Given the description of an element on the screen output the (x, y) to click on. 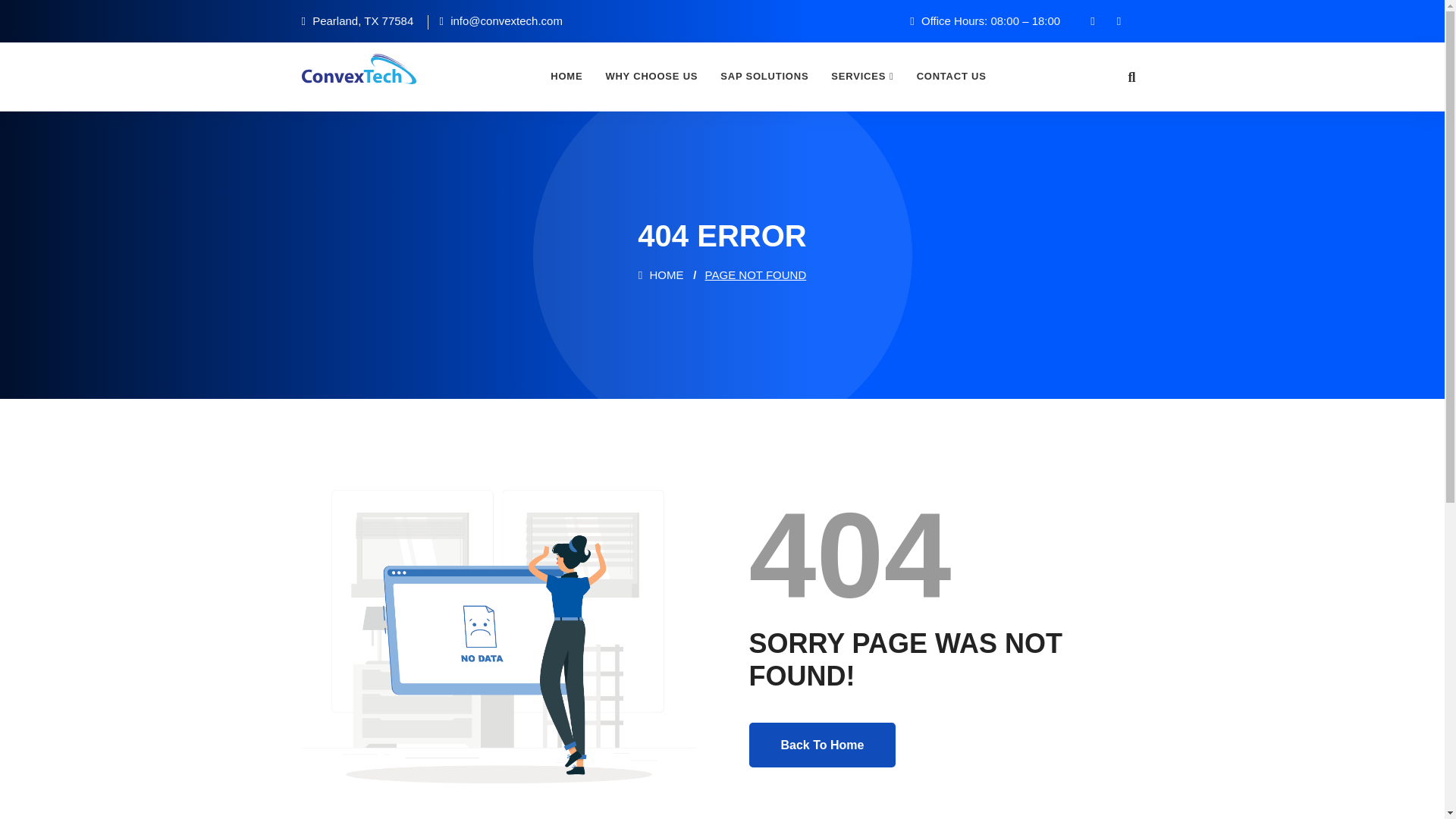
Why Choose Us (651, 76)
SERVICES (861, 76)
Contact Us (951, 76)
CONTACT US (951, 76)
SAP Solutions (764, 76)
WHY CHOOSE US (651, 76)
SAP SOLUTIONS (764, 76)
HOME (661, 274)
Services (861, 76)
Back To Home (822, 744)
